Given the description of an element on the screen output the (x, y) to click on. 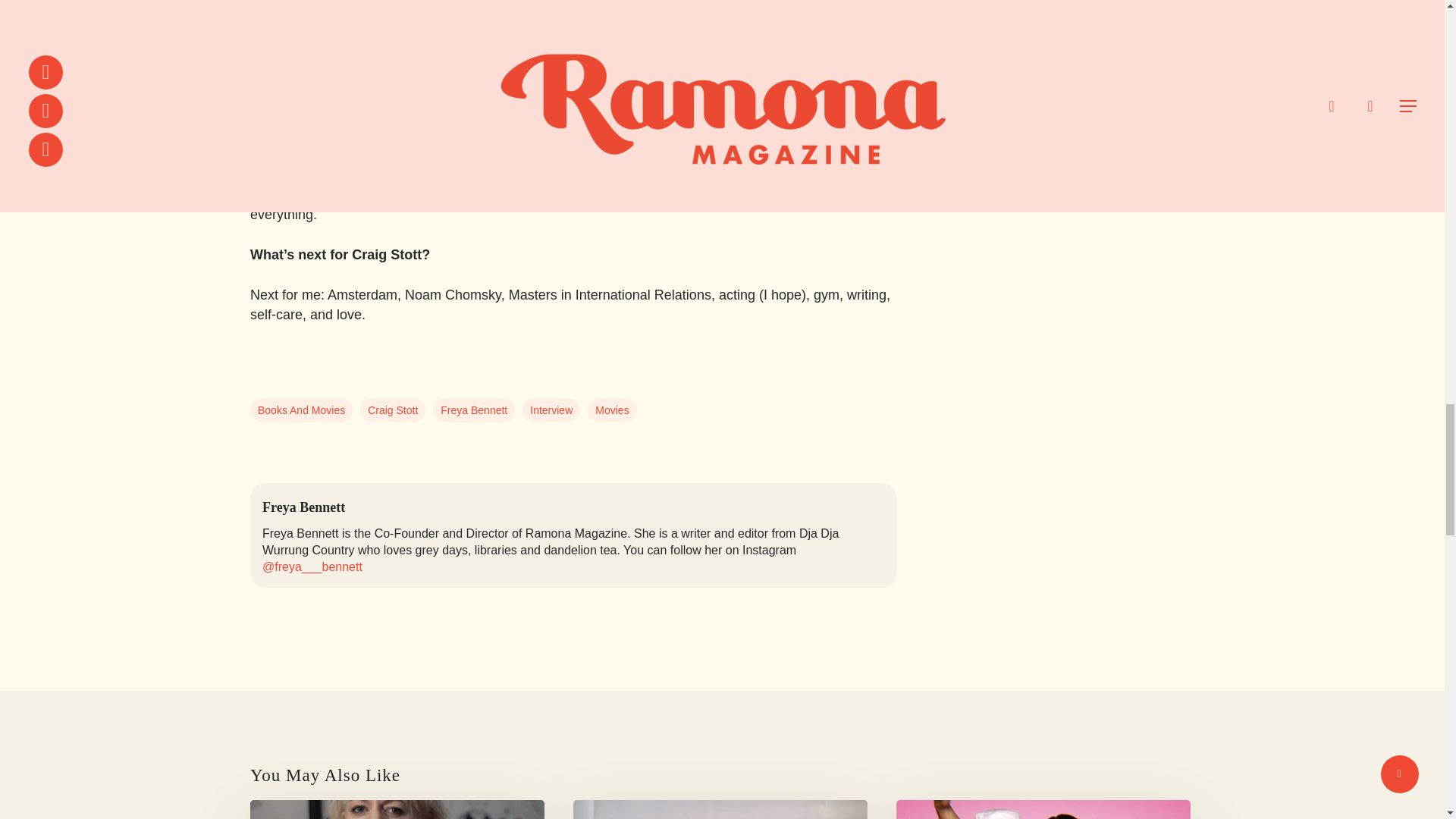
Books And Movies (301, 410)
Freya Bennett (473, 410)
Craig Stott (392, 410)
Movies (612, 410)
Interview (550, 410)
